Given the description of an element on the screen output the (x, y) to click on. 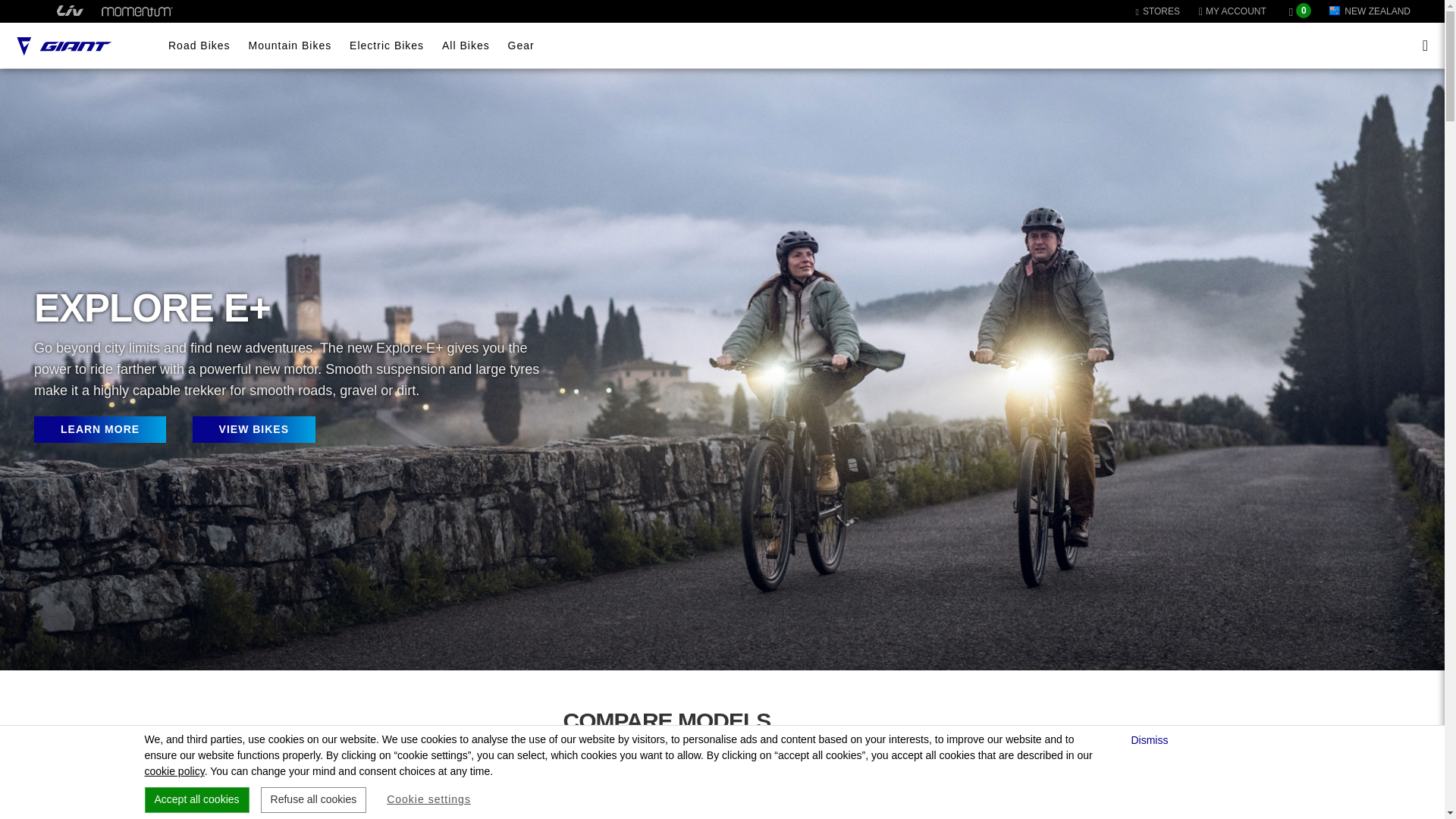
Dismiss (1150, 740)
cookie policy (173, 770)
Mountain Bikes (289, 44)
Cookie settings (428, 799)
MY ACCOUNT (1235, 10)
Road Bikes (199, 44)
Stores (1157, 11)
STORES (1157, 11)
Refuse all cookies (313, 800)
